Given the description of an element on the screen output the (x, y) to click on. 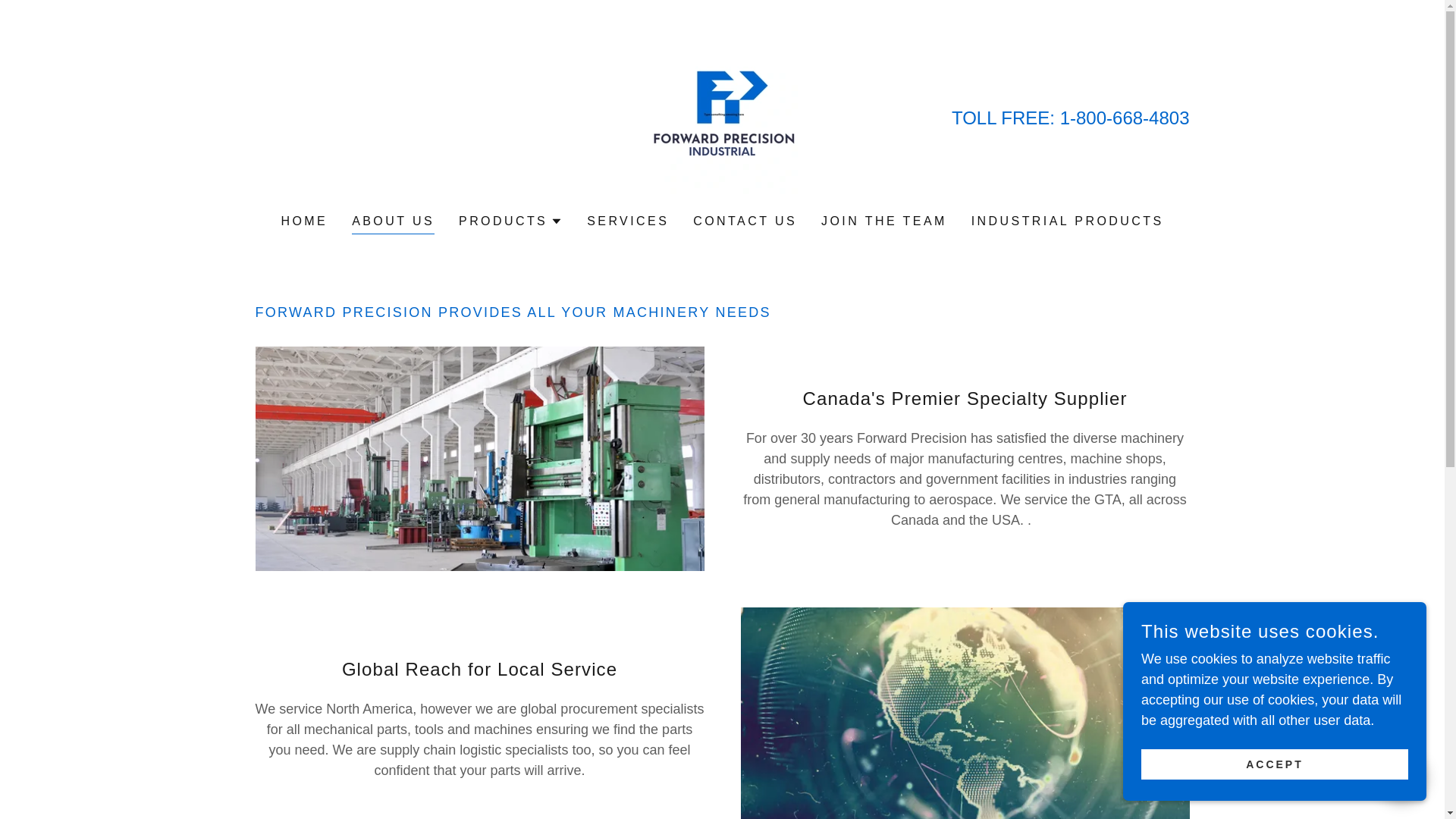
CONTACT US (745, 221)
ABOUT US (392, 223)
Forward Precision Tools and Machinery (721, 117)
HOME (303, 221)
JOIN THE TEAM (884, 221)
1-800-668-4803 (1124, 117)
SERVICES (627, 221)
PRODUCTS (510, 221)
INDUSTRIAL PRODUCTS (1067, 221)
